Given the description of an element on the screen output the (x, y) to click on. 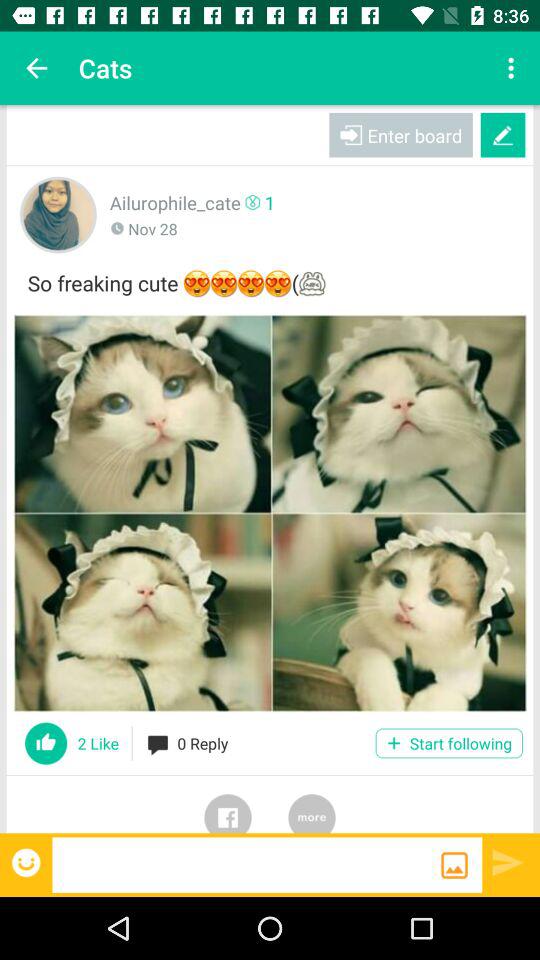
search the page (246, 864)
